Given the description of an element on the screen output the (x, y) to click on. 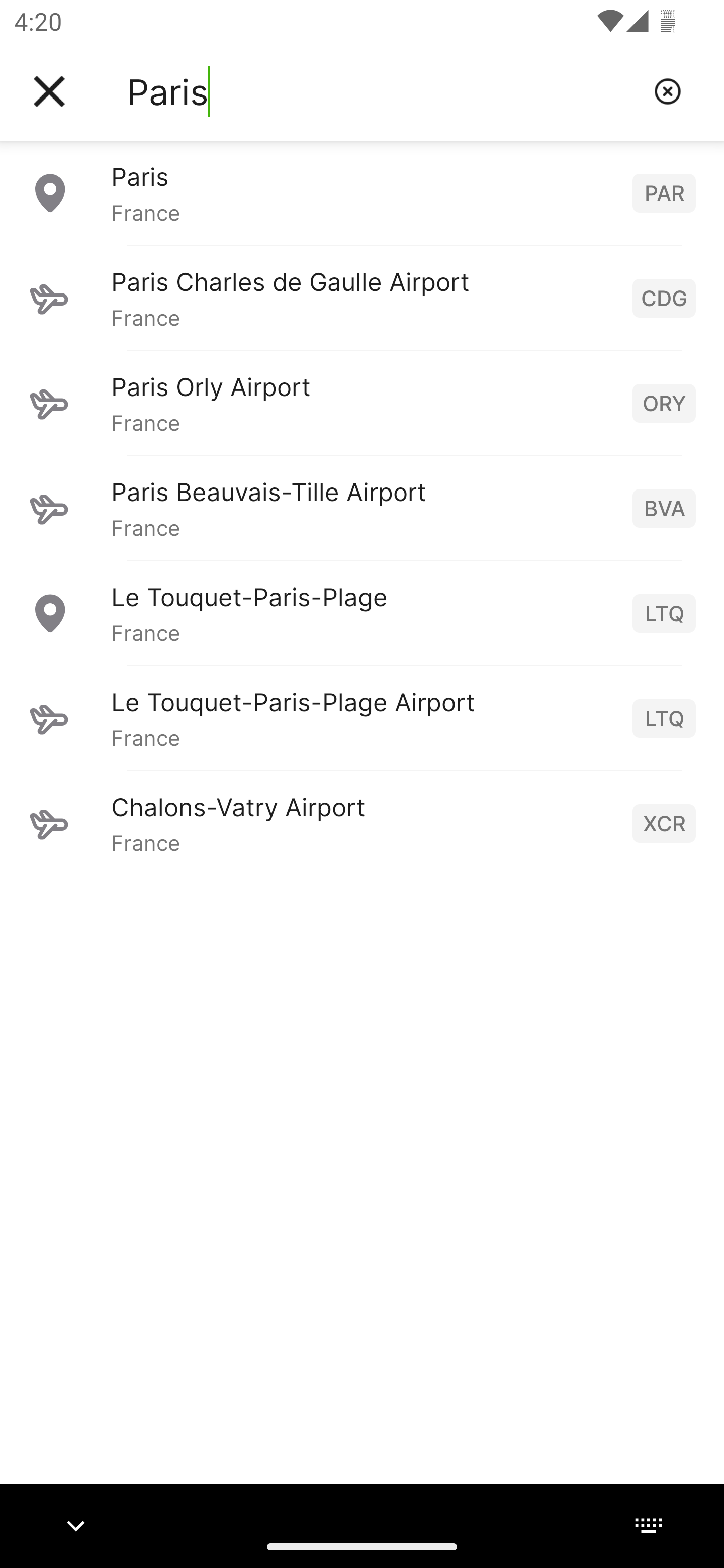
Paris (382, 91)
Paris France PAR (362, 192)
Paris Charles de Gaulle Airport France CDG (362, 297)
Paris Orly Airport France ORY (362, 402)
Paris Beauvais-Tille Airport France BVA (362, 507)
Le Touquet-Paris-Plage France LTQ (362, 612)
Le Touquet-Paris-Plage Airport France LTQ (362, 717)
Chalons-Vatry Airport France XCR (362, 822)
